Given the description of an element on the screen output the (x, y) to click on. 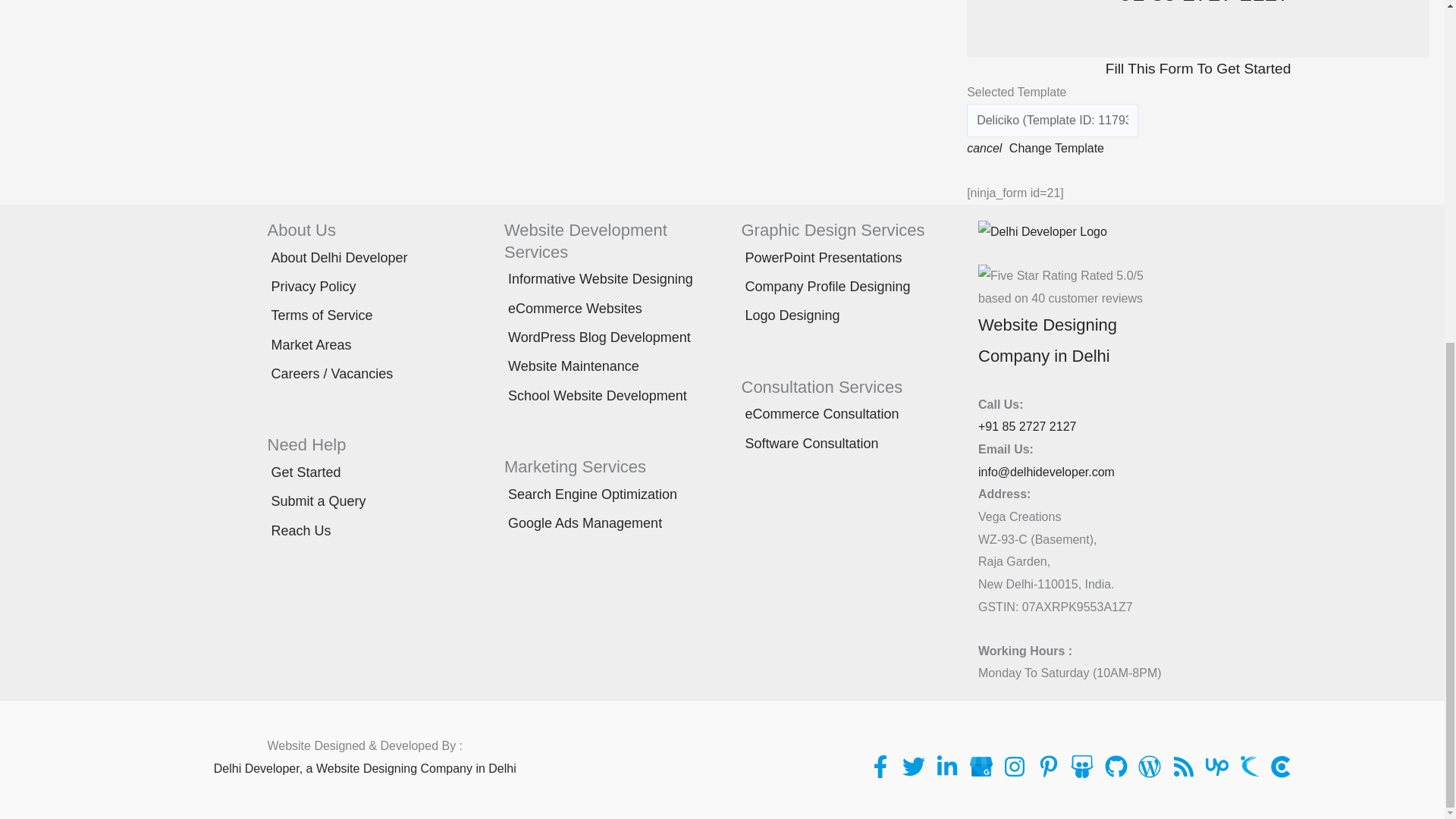
Website Designing Company in Delhi (1047, 341)
